Given the description of an element on the screen output the (x, y) to click on. 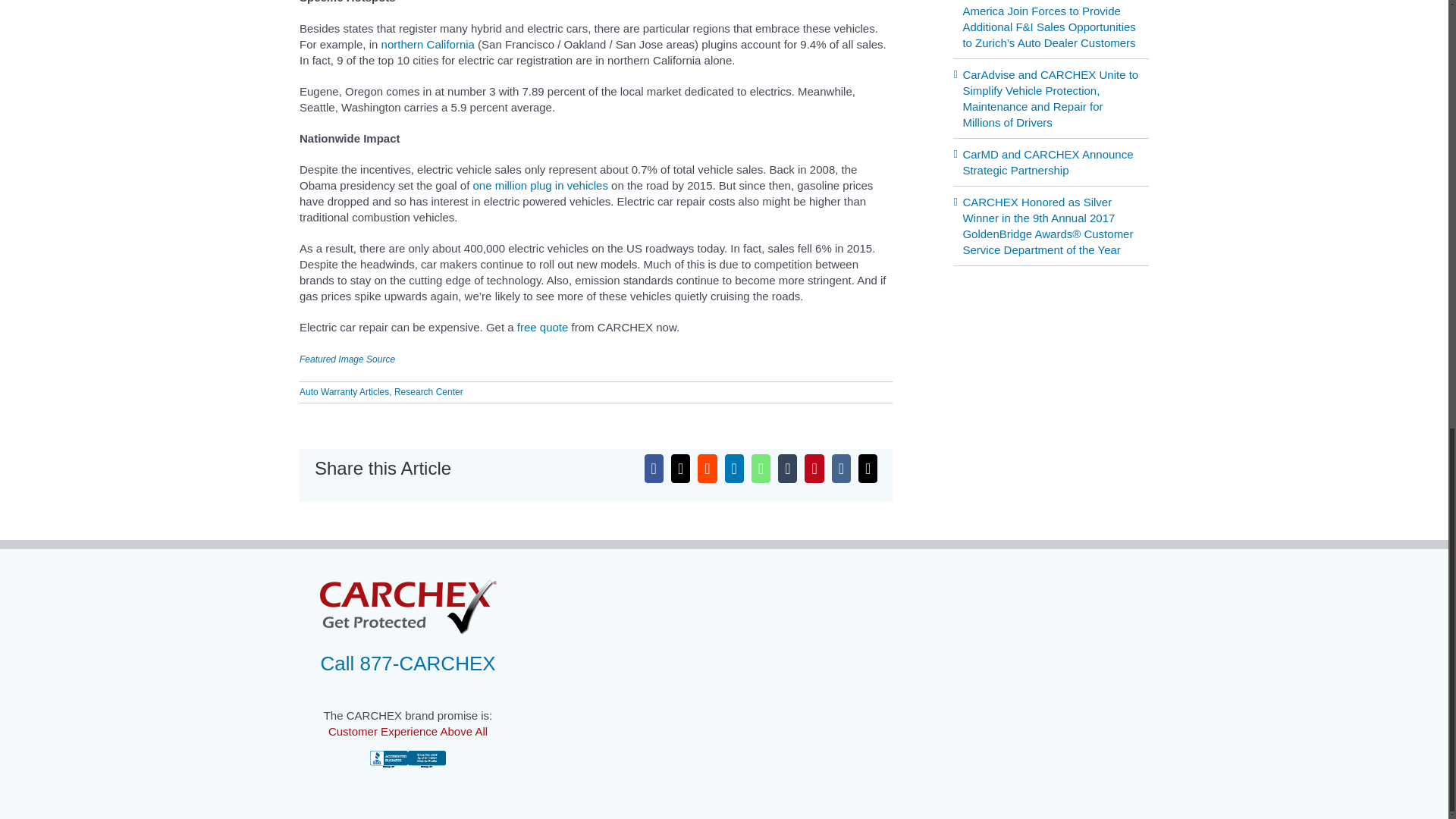
northern California (427, 43)
one million plug in vehicles (539, 185)
Research Center (428, 391)
Auto Warranty Articles (343, 391)
Featured Image Source (346, 358)
free quote (542, 327)
